Given the description of an element on the screen output the (x, y) to click on. 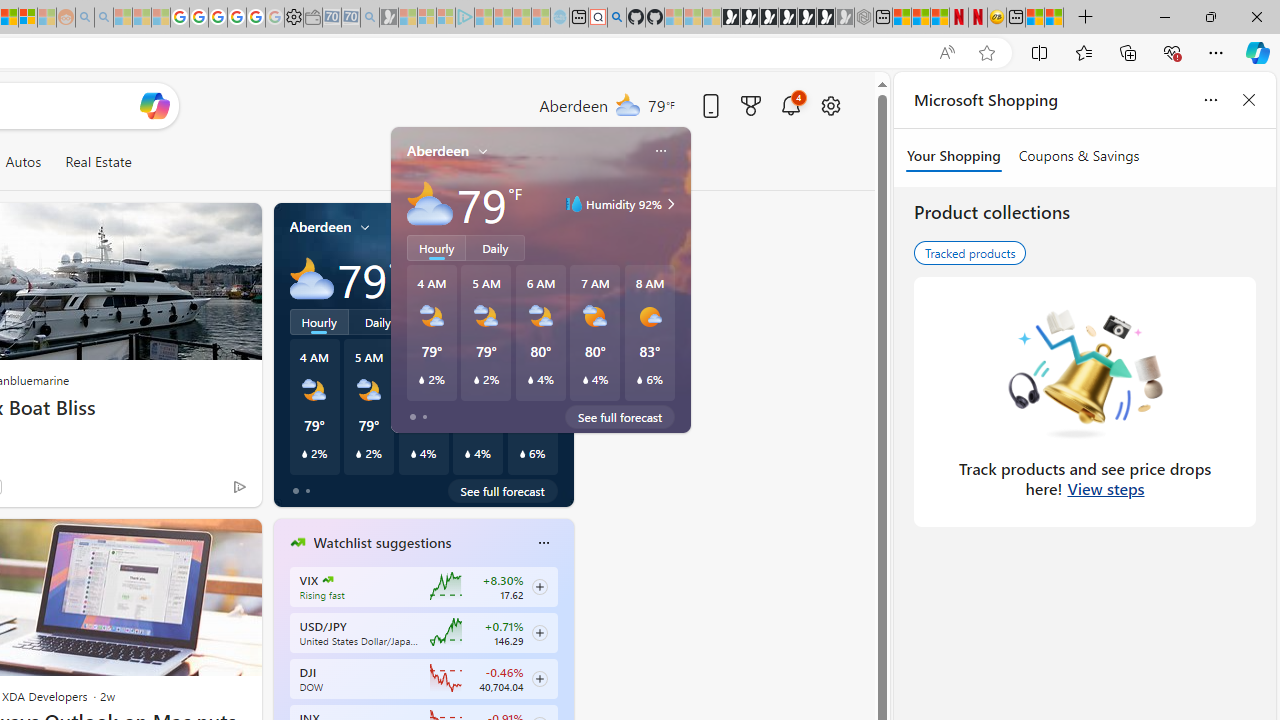
Wildlife - MSN (1035, 17)
Watchlist suggestions (382, 543)
My location (365, 227)
